Given the description of an element on the screen output the (x, y) to click on. 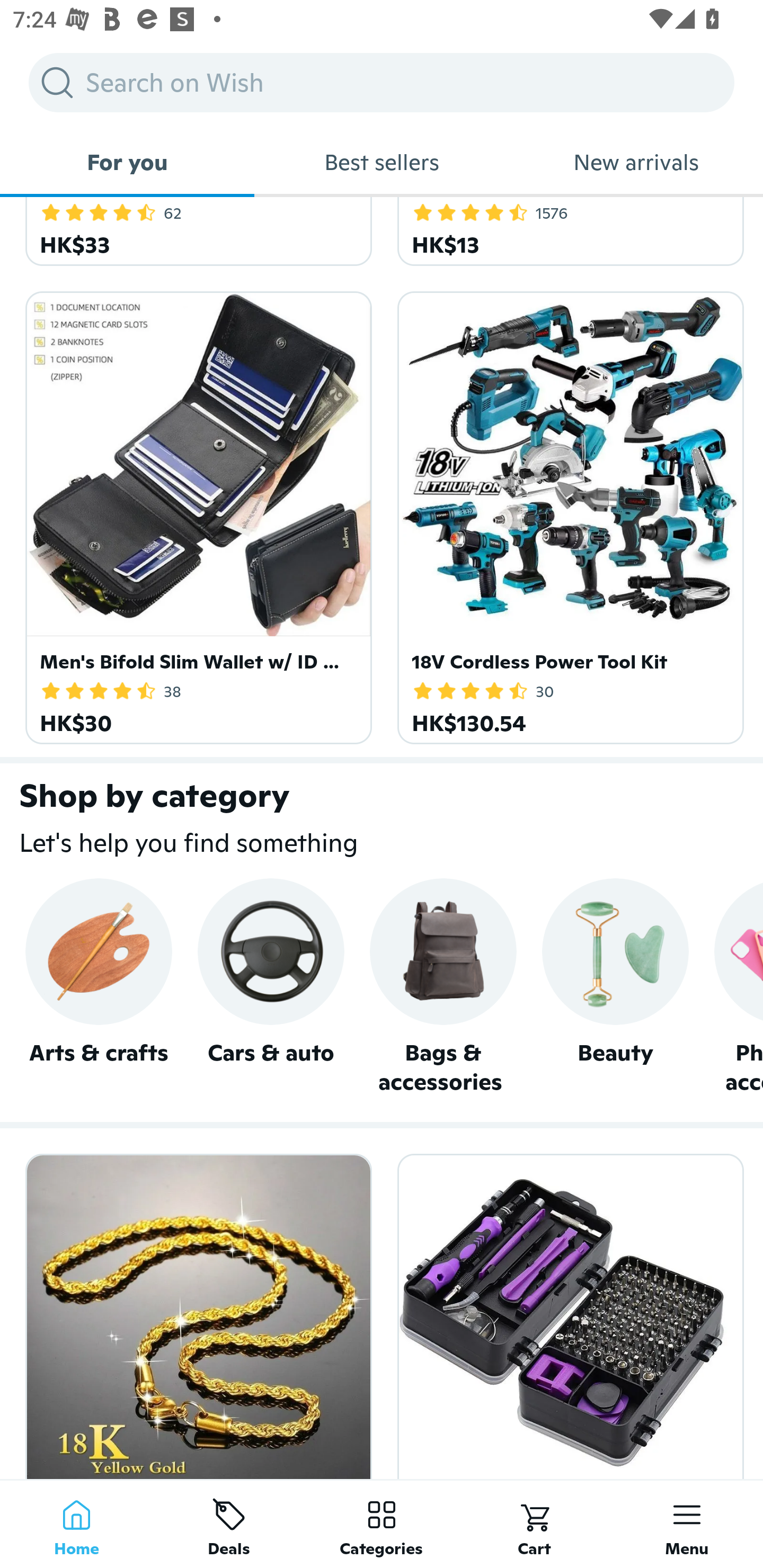
Search on Wish (381, 82)
For you (127, 161)
Best sellers (381, 161)
New arrivals (635, 161)
Arts & crafts (98, 987)
Cars & auto (270, 987)
Bags & accessories  (443, 987)
Beauty (614, 987)
Home (76, 1523)
Deals (228, 1523)
Categories (381, 1523)
Cart (533, 1523)
Menu (686, 1523)
